Given the description of an element on the screen output the (x, y) to click on. 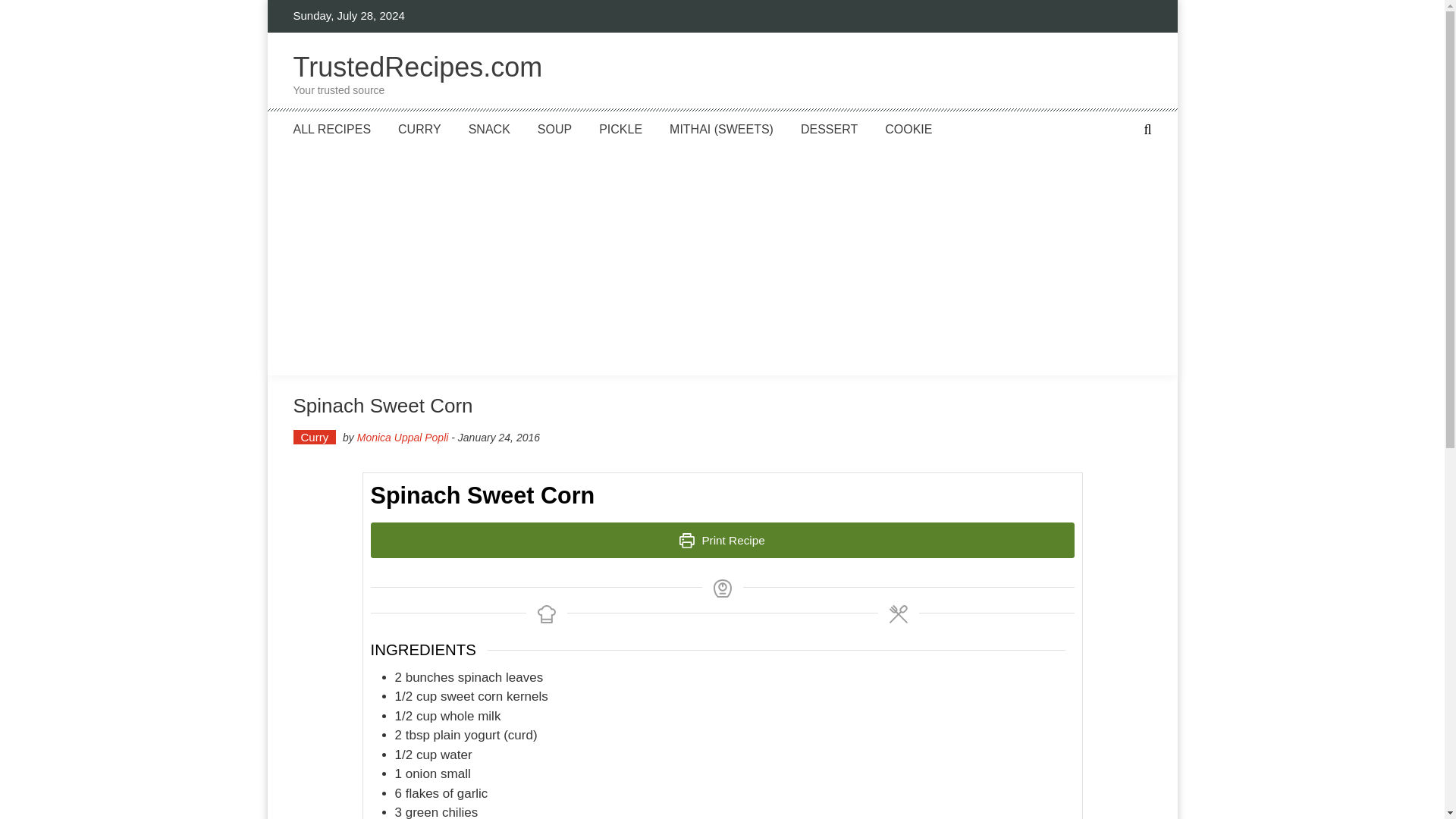
PICKLE (416, 75)
SOUP (620, 128)
DESSERT (554, 128)
Curry (828, 128)
Monica Uppal Popli (314, 436)
SNACK (402, 437)
ALL RECIPES (489, 128)
CURRY (331, 128)
